Given the description of an element on the screen output the (x, y) to click on. 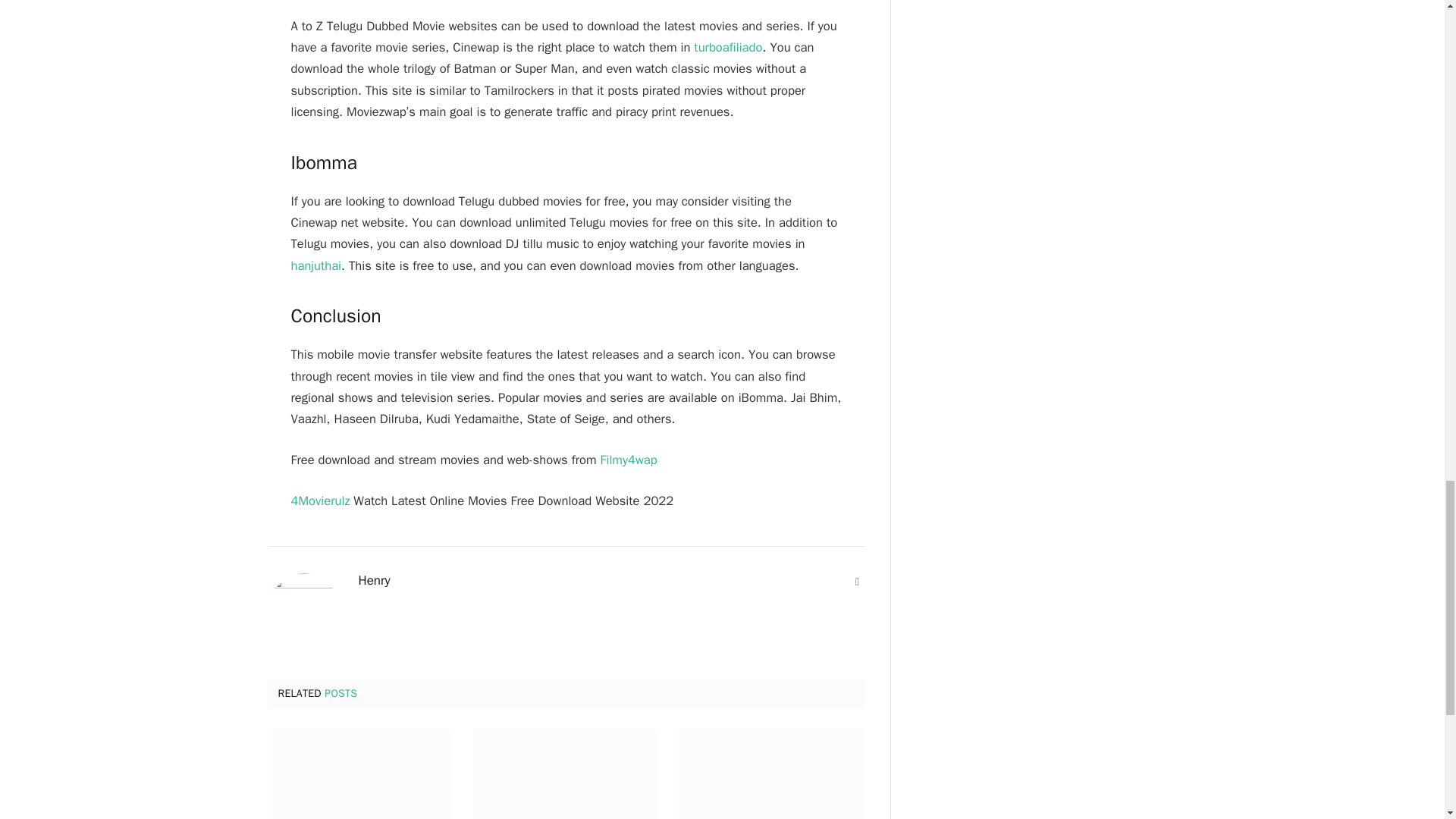
turboafiliado (727, 47)
Website (856, 581)
Website (856, 581)
Posts by Henry (374, 580)
Henry (374, 580)
From Folklore to Mainstream: The Evolution of Punjabi Cinema (359, 774)
hanjuthai (316, 265)
Filmy4wap (627, 459)
